Given the description of an element on the screen output the (x, y) to click on. 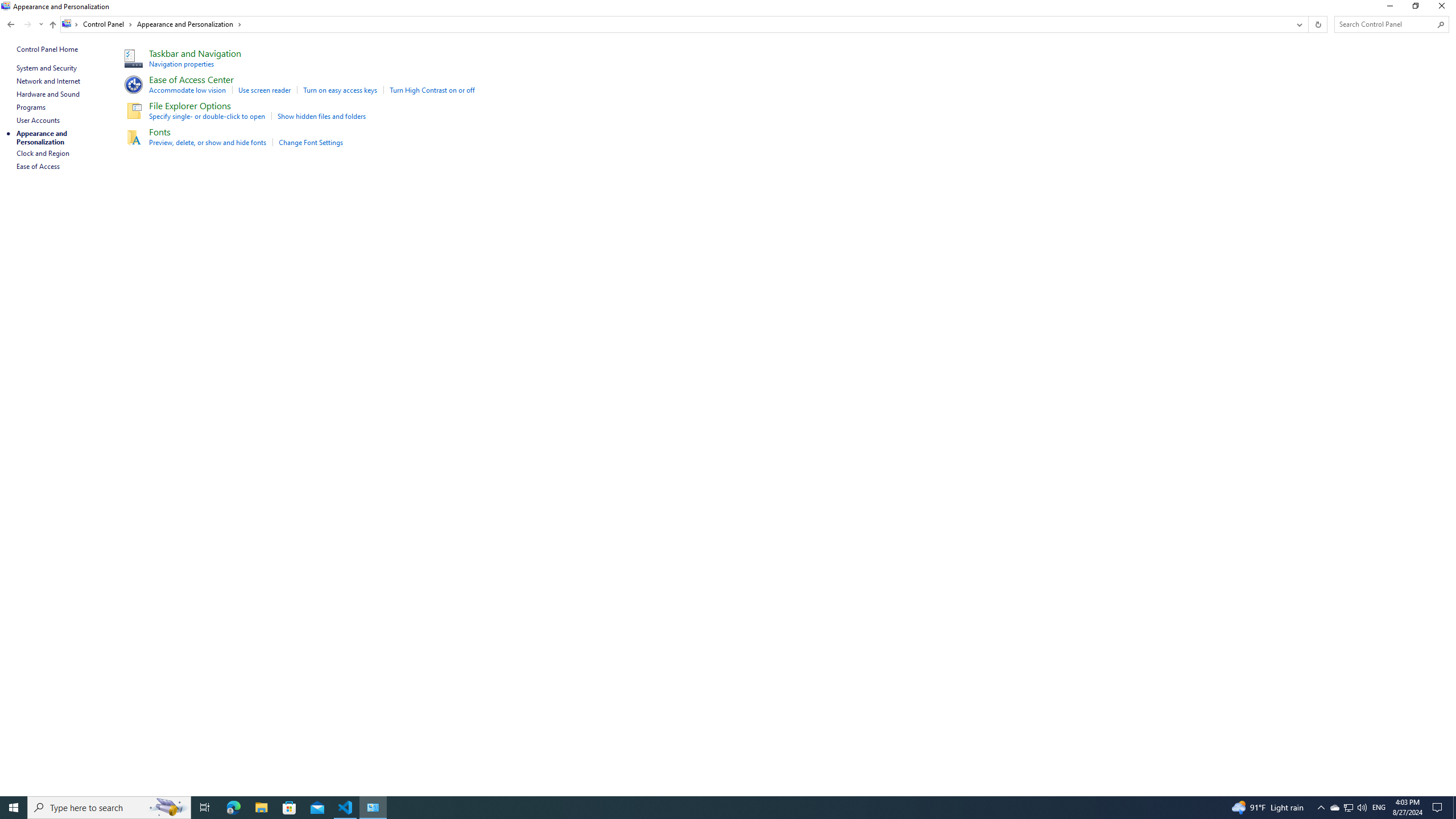
Fonts (159, 131)
Back to User Accounts (Alt + Left Arrow) (10, 23)
Search highlights icon opens search home window (167, 807)
